Given the description of an element on the screen output the (x, y) to click on. 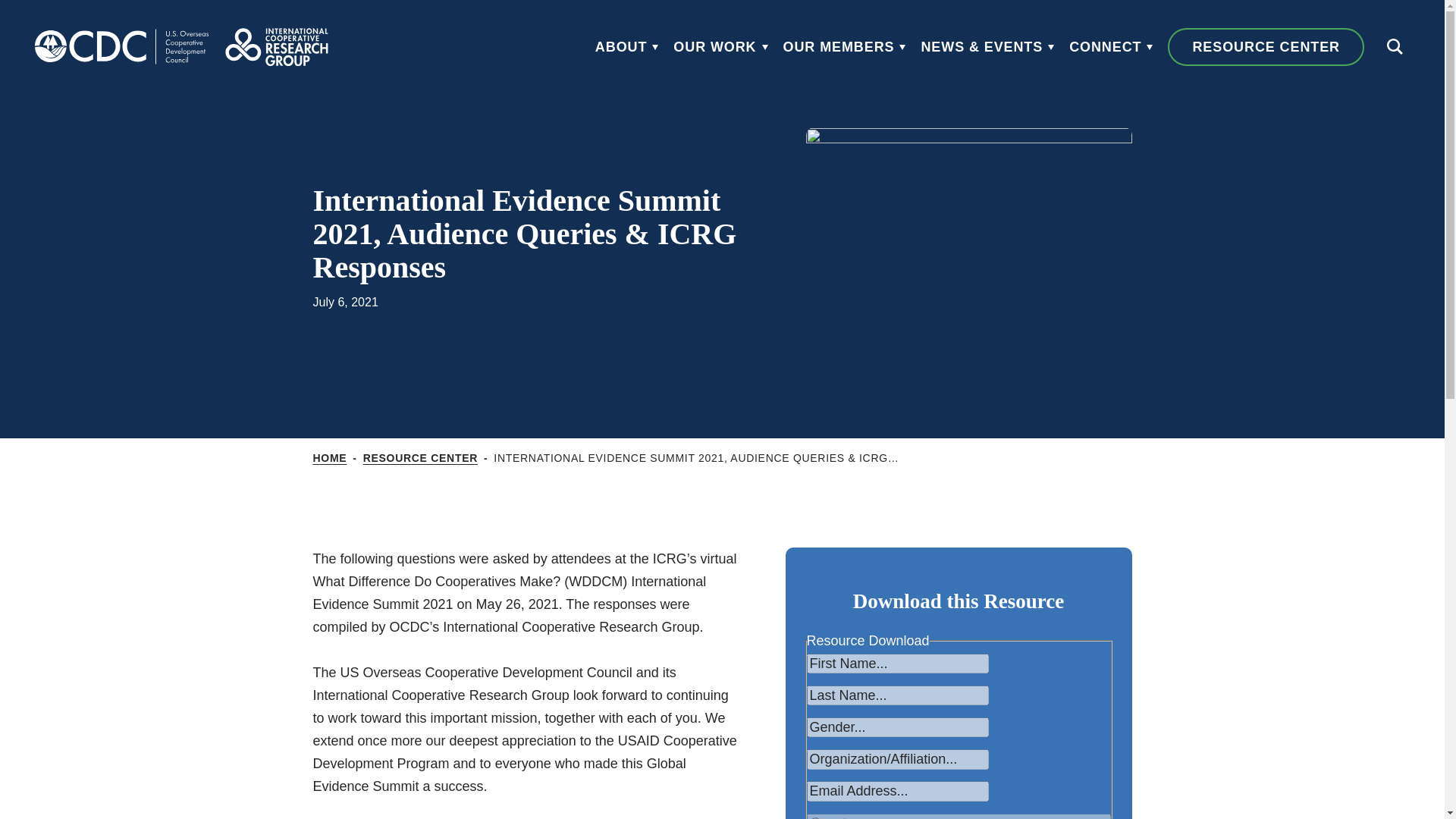
RESOURCE CENTER (1265, 46)
homepage (121, 46)
HOME (329, 458)
ABOUT (627, 46)
Search (1393, 46)
homepage (276, 46)
CONNECT (1110, 46)
RESOURCE CENTER (419, 458)
OUR WORK (719, 46)
OUR MEMBERS (844, 46)
